Given the description of an element on the screen output the (x, y) to click on. 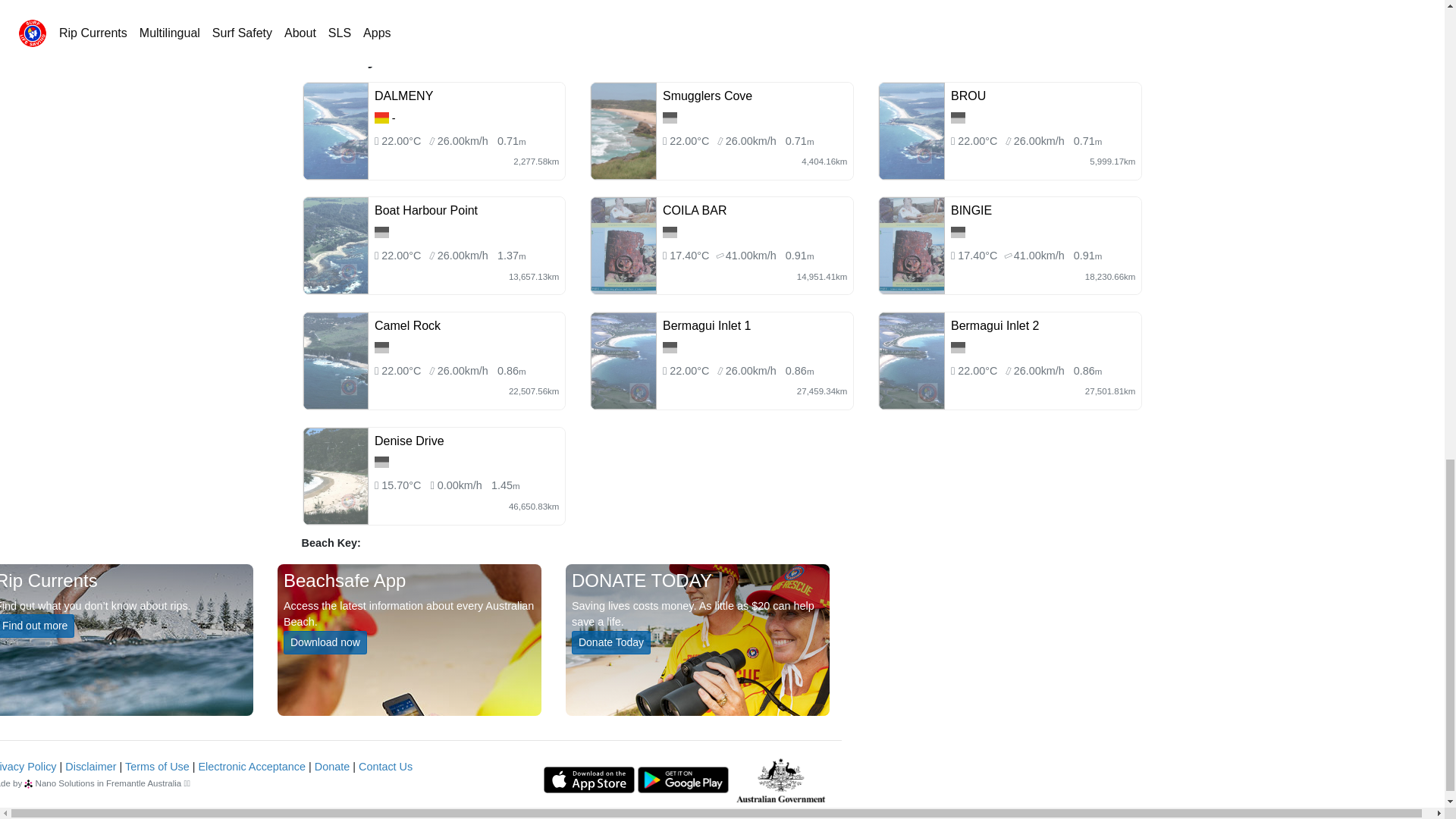
Sunny. (689, 141)
Wind Speed (1039, 141)
Sunny. (978, 141)
Privacy Policy (28, 766)
Sunny. (689, 255)
Electronic Acceptance (251, 766)
Wind Speed (462, 141)
Wind Speed (462, 255)
Contact Us (385, 766)
Swell (1088, 141)
